Given the description of an element on the screen output the (x, y) to click on. 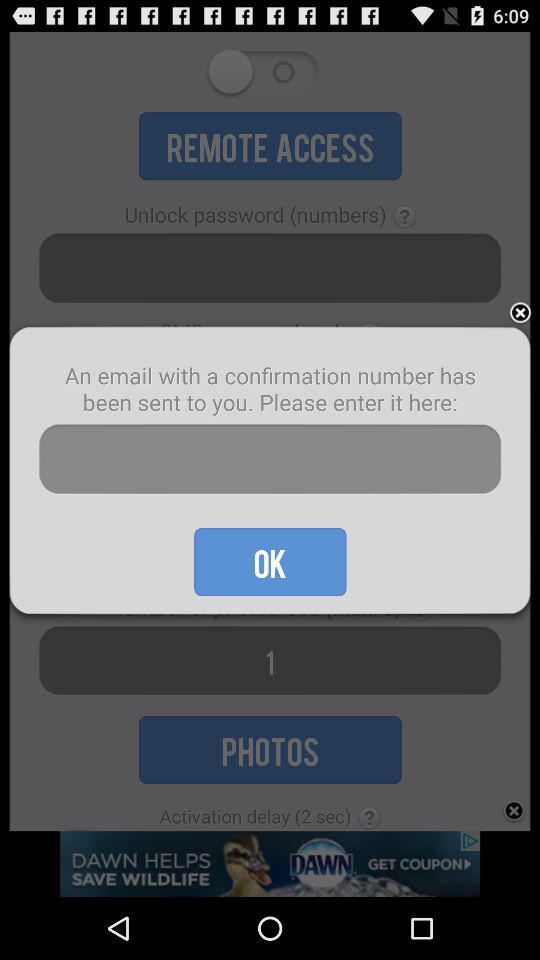
scroll to ok (270, 562)
